Given the description of an element on the screen output the (x, y) to click on. 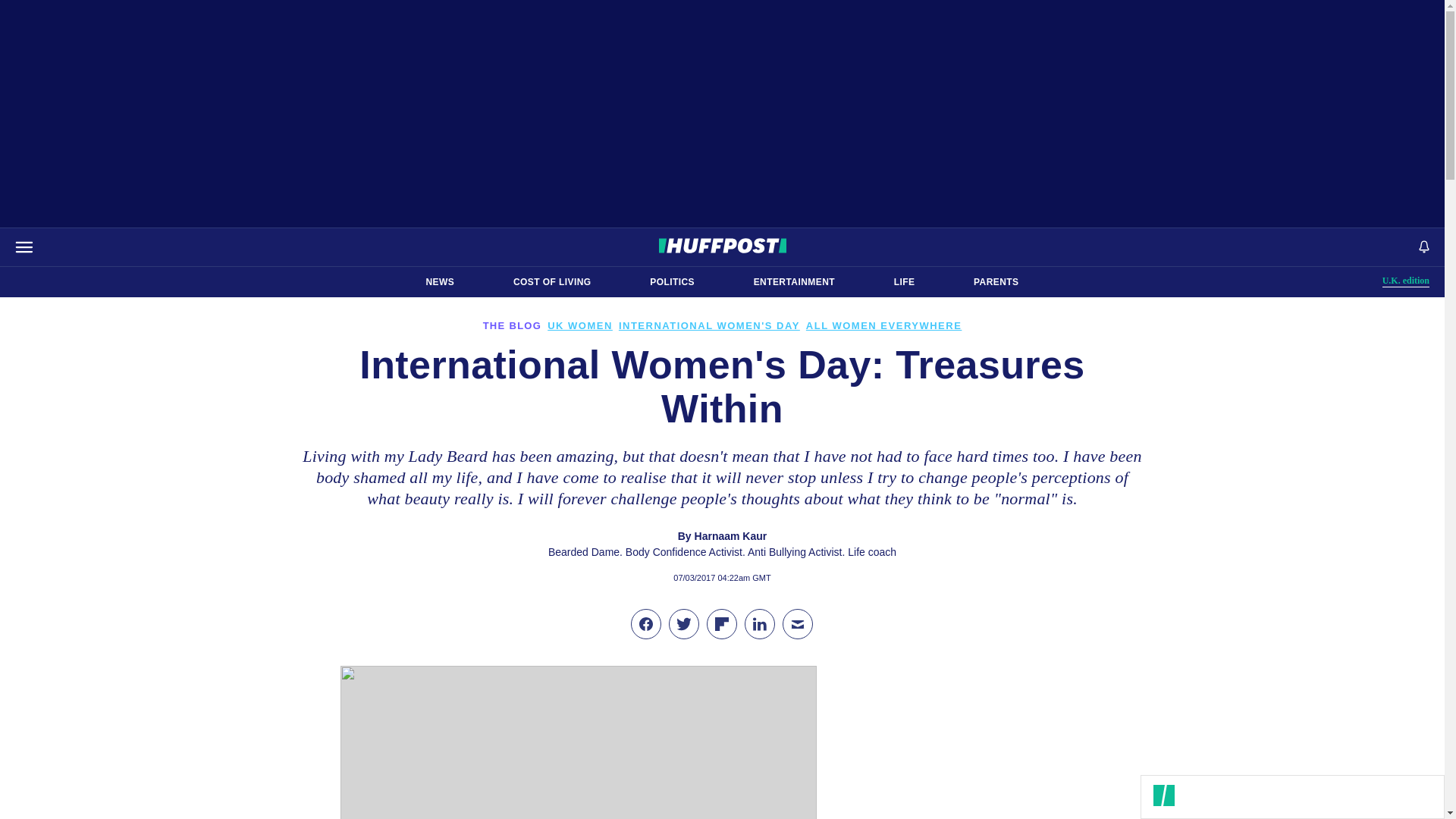
POLITICS (671, 281)
ENTERTAINMENT (794, 281)
COST OF LIVING (552, 281)
LIFE (904, 281)
PARENTS (1405, 281)
NEWS (995, 281)
